Given the description of an element on the screen output the (x, y) to click on. 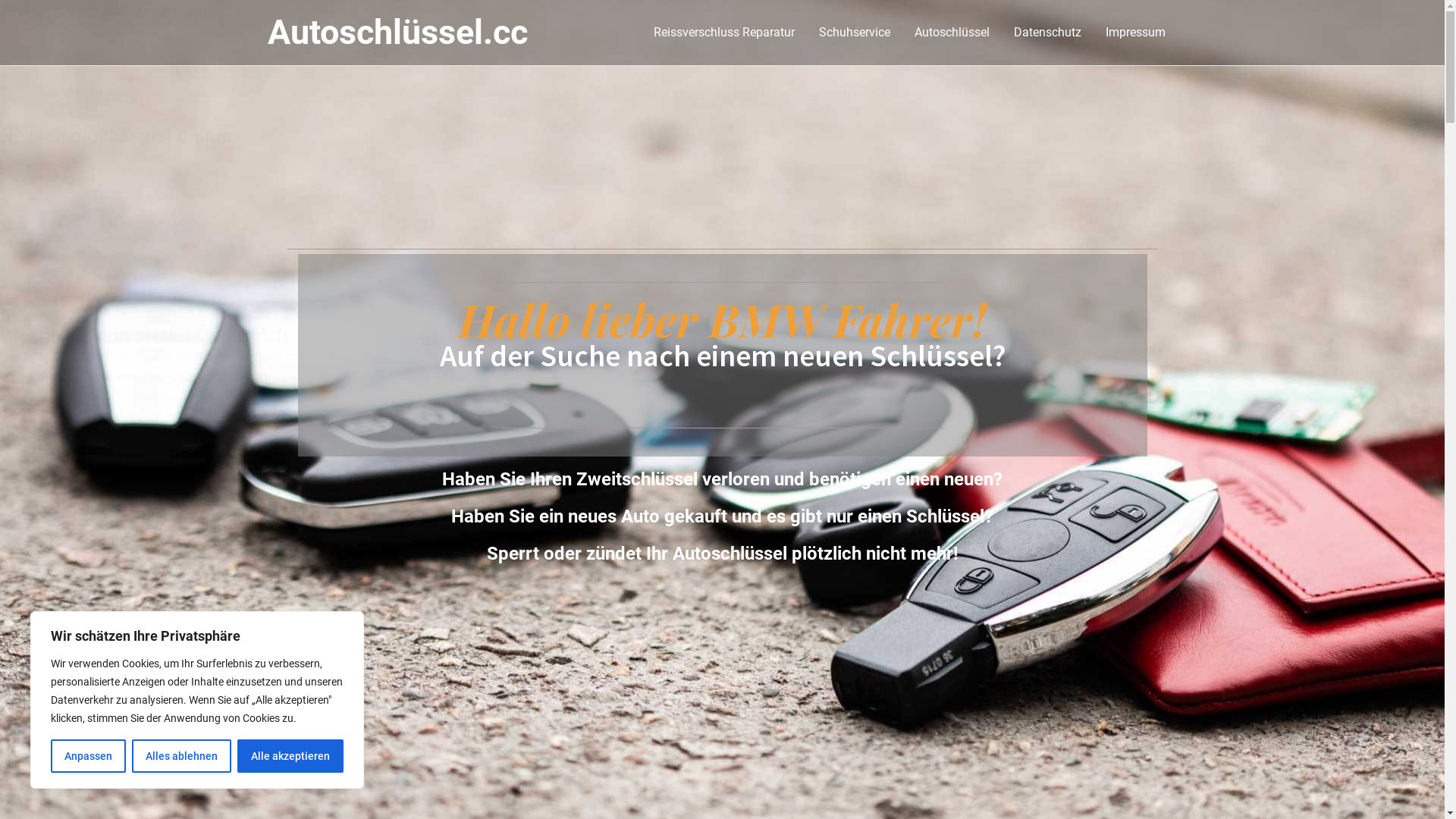
Wie Gewinnt Man Bei Android-Automaten Tipps Und Tricks Element type: text (156, 395)
Datenschutz Element type: text (1046, 32)
Casino Ohne Einzahlung Gewinnen Element type: text (94, 178)
Digitales Roulette Im Casino 2023 Element type: text (126, 54)
Impressum Element type: text (1135, 32)
Anpassen Element type: text (87, 755)
Casino Spins Nach Anmeldung 2023 Element type: text (98, 235)
Reissverschluss Reparatur Element type: text (723, 32)
Schuhservice Element type: text (854, 32)
Alles ablehnen Element type: text (181, 755)
Online Casino Mit Bester Auszahlungsquote Element type: text (117, 434)
Alle akzeptieren Element type: text (290, 755)
